Given the description of an element on the screen output the (x, y) to click on. 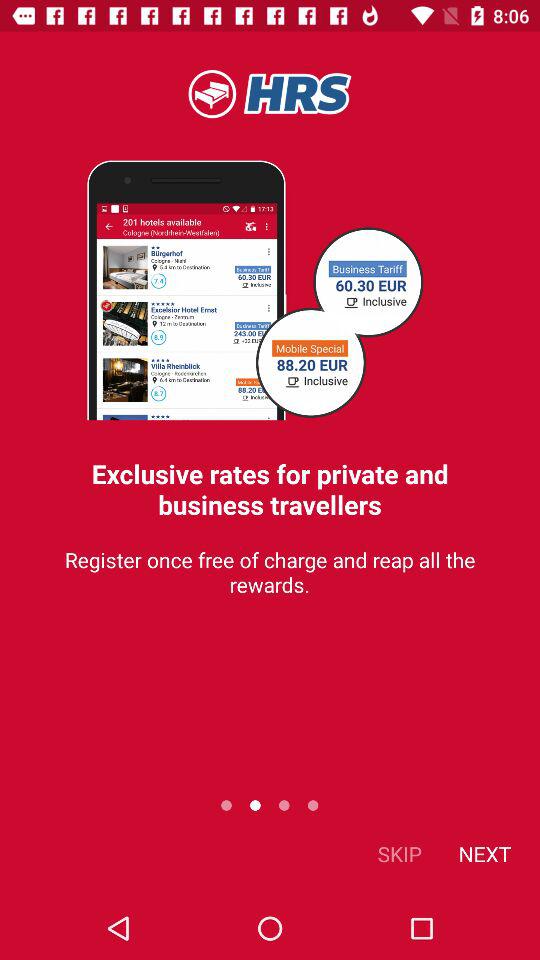
scroll until the next (484, 853)
